Given the description of an element on the screen output the (x, y) to click on. 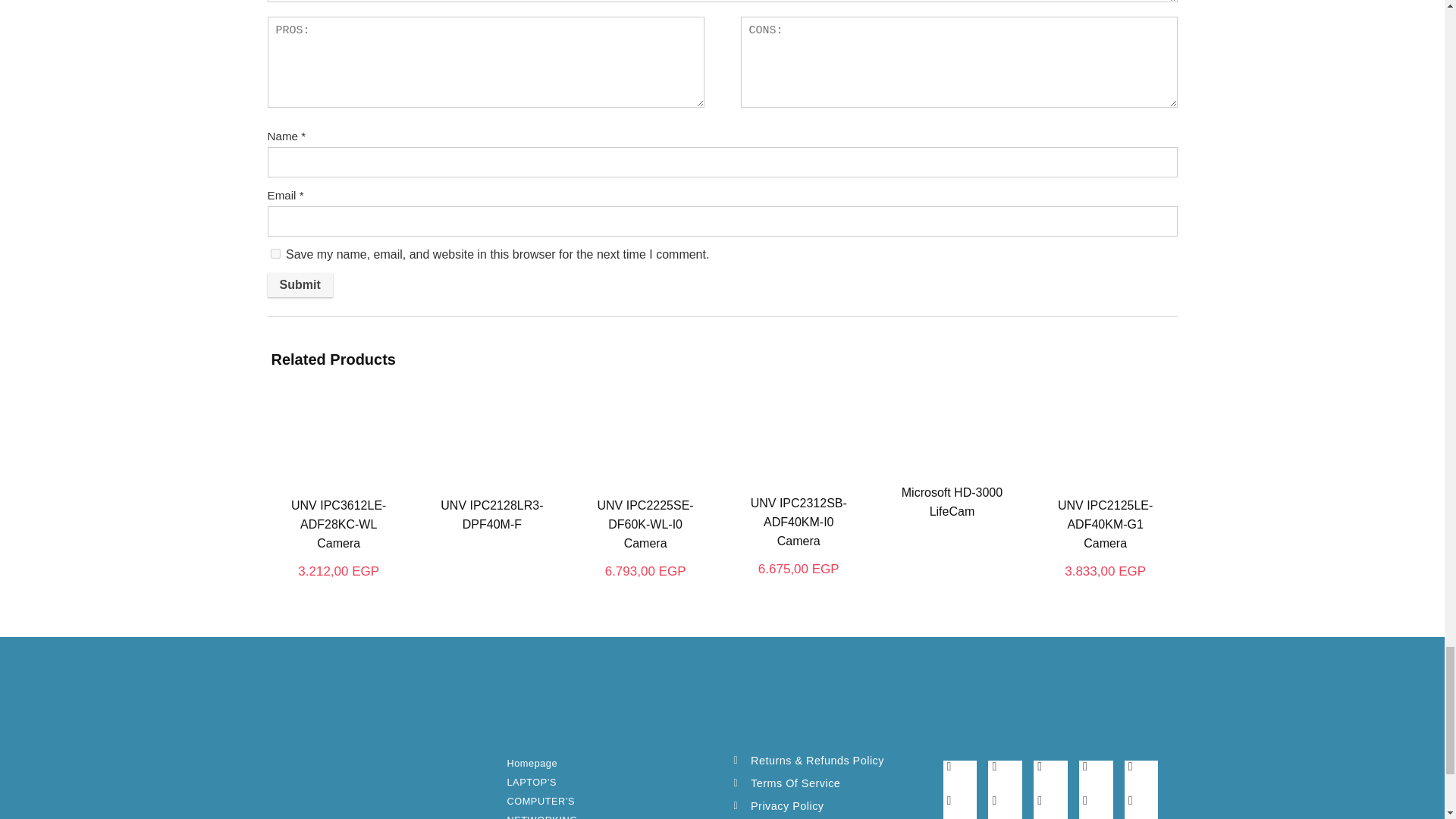
yes (274, 253)
Submit (298, 284)
